Given the description of an element on the screen output the (x, y) to click on. 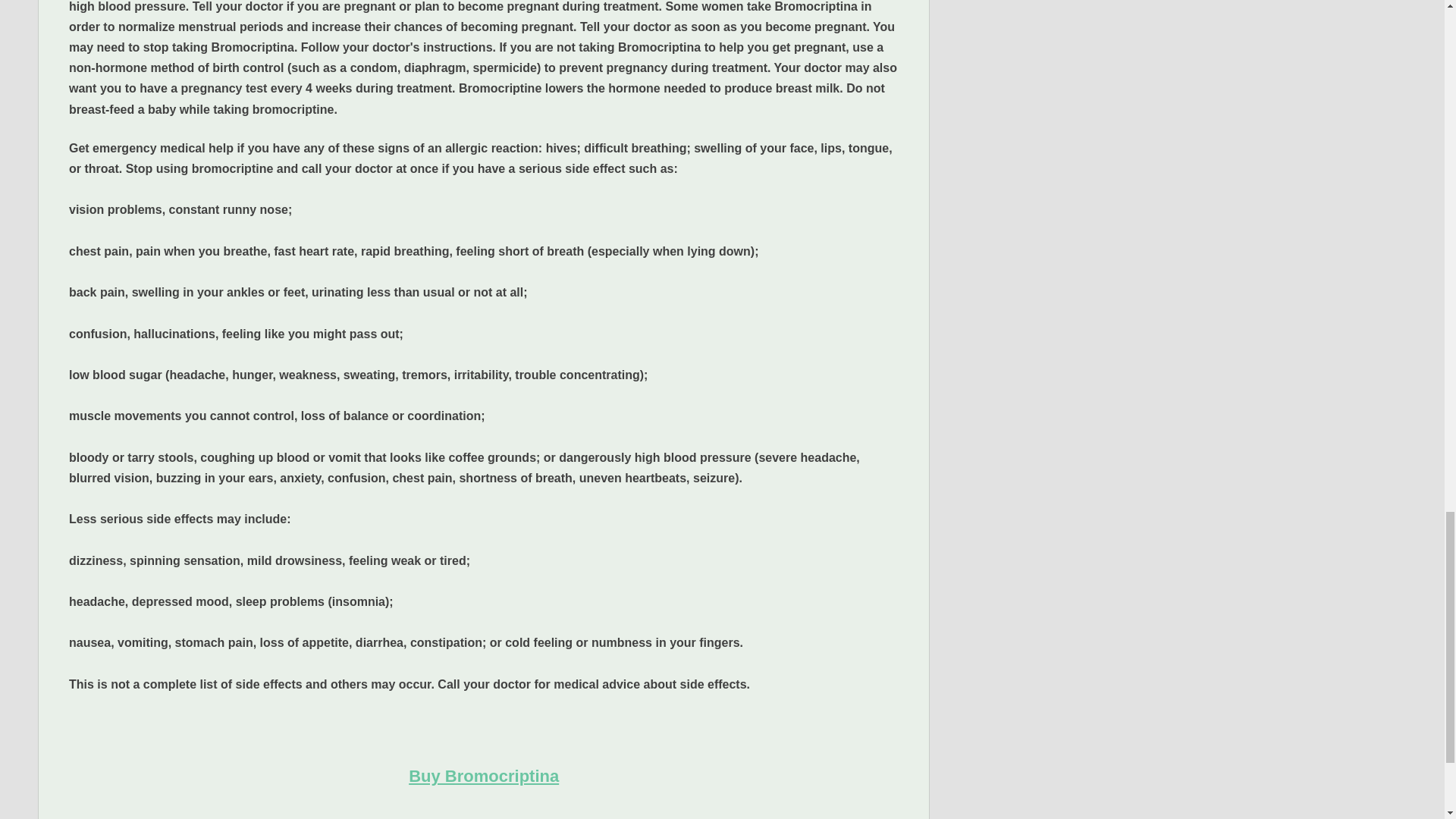
Buy Bromocriptina (484, 775)
Buy Bromocriptina (484, 775)
